Given the description of an element on the screen output the (x, y) to click on. 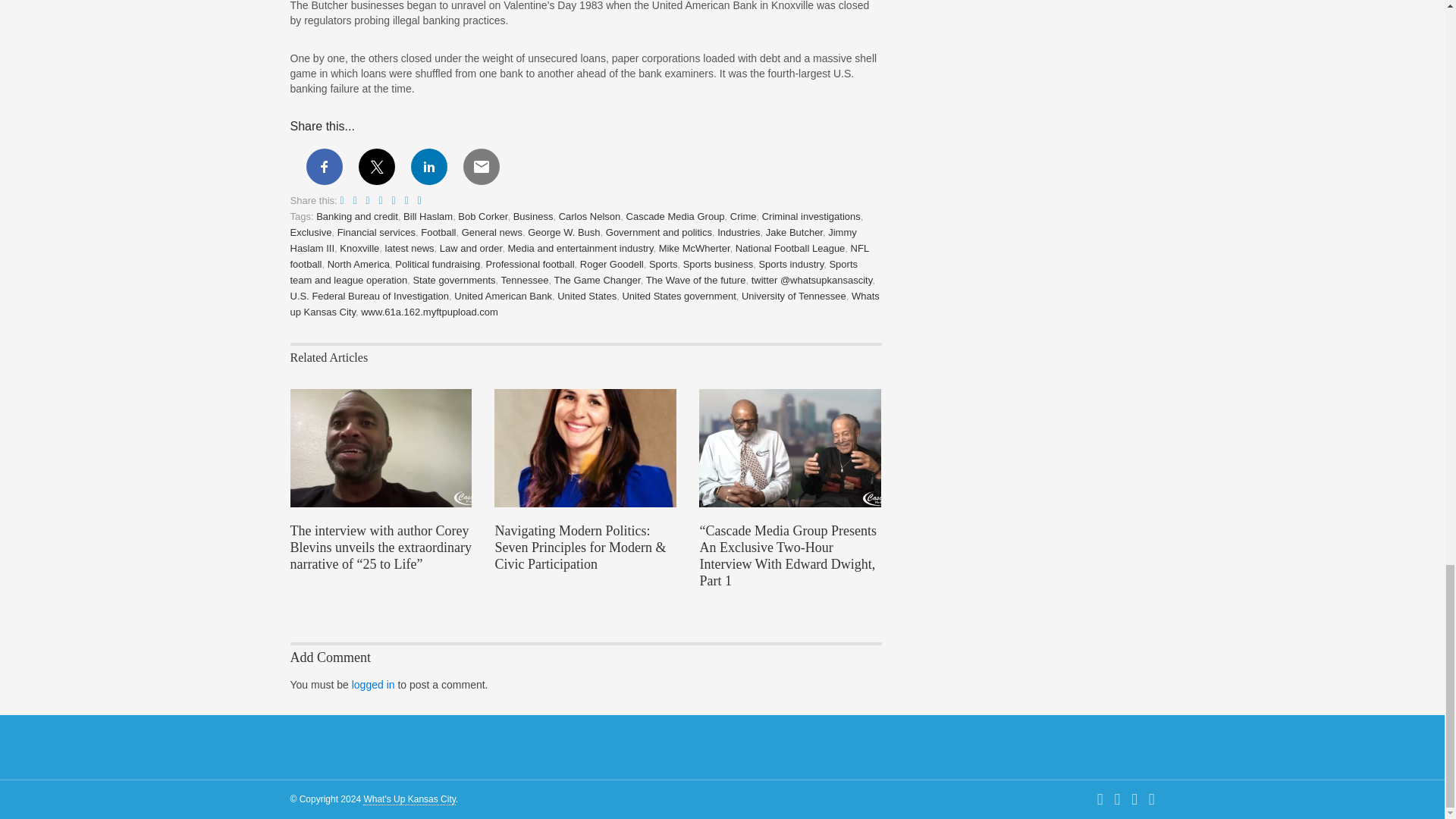
Criminal investigations (810, 215)
Industries (738, 232)
Jimmy Haslam III (572, 239)
Jake Butcher (793, 232)
Football (437, 232)
Financial services (375, 232)
Carlos Nelson (590, 215)
Exclusive (310, 232)
Knoxville (358, 247)
General news (491, 232)
